Given the description of an element on the screen output the (x, y) to click on. 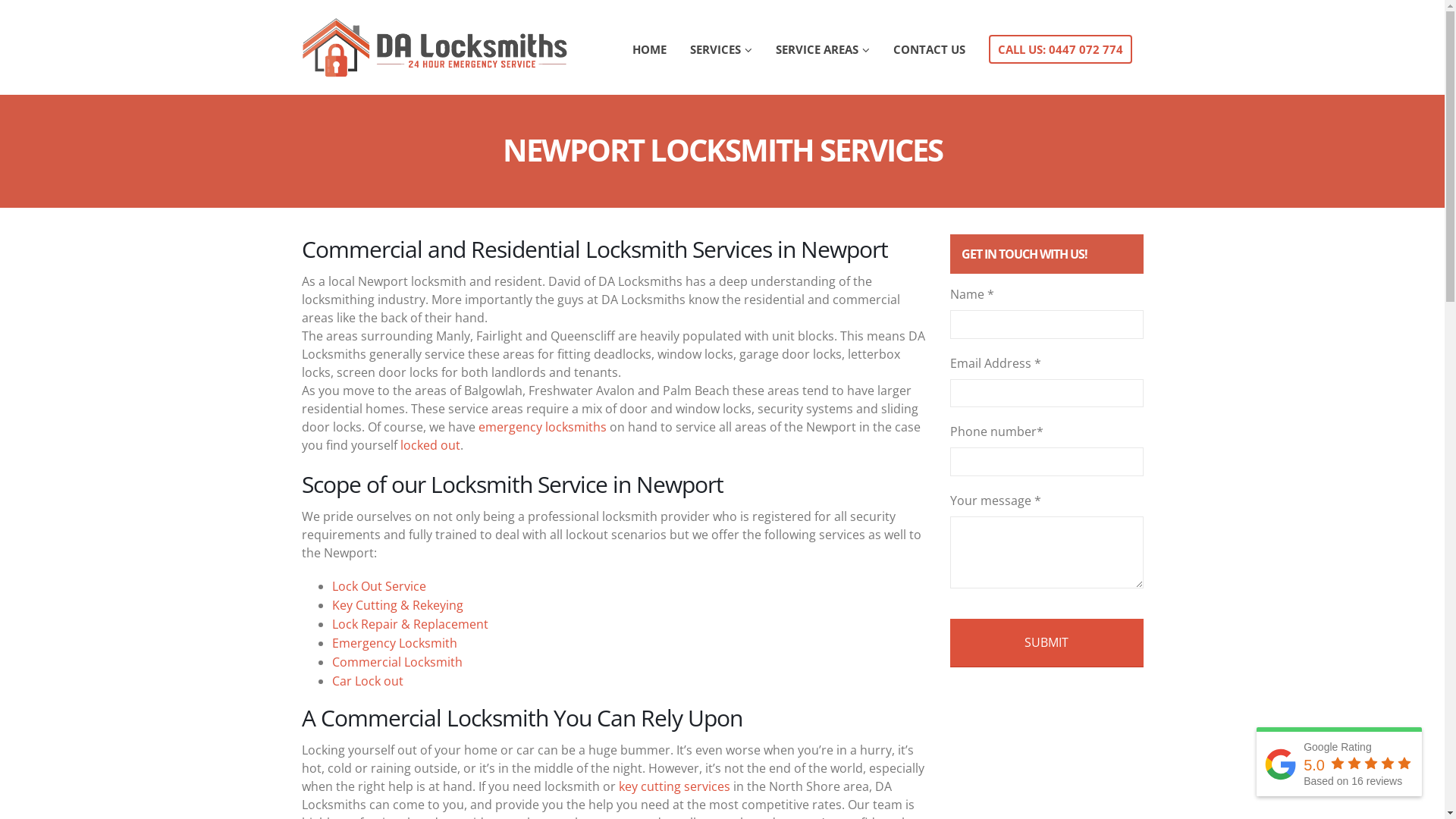
Key Cutting & Rekeying Element type: text (397, 604)
SERVICES Element type: text (719, 47)
locked out Element type: text (430, 444)
Google Rating
5.0
Based on 16 reviews Element type: text (1338, 761)
SUBMIT Element type: text (1045, 642)
Commercial Locksmith Element type: text (397, 661)
Lock Repair & Replacement Element type: text (410, 623)
Lock Out Service Element type: text (379, 585)
Car Lock out Element type: text (367, 680)
Emergency Locksmith Element type: text (394, 642)
CALL US: 0447 072 774 Element type: text (1059, 47)
key cutting services Element type: text (674, 786)
emergency locksmiths Element type: text (539, 426)
CONTACT US Element type: text (928, 47)
SERVICE AREAS Element type: text (822, 47)
DA Locksmiths -  Element type: hover (434, 47)
HOME Element type: text (648, 47)
